Given the description of an element on the screen output the (x, y) to click on. 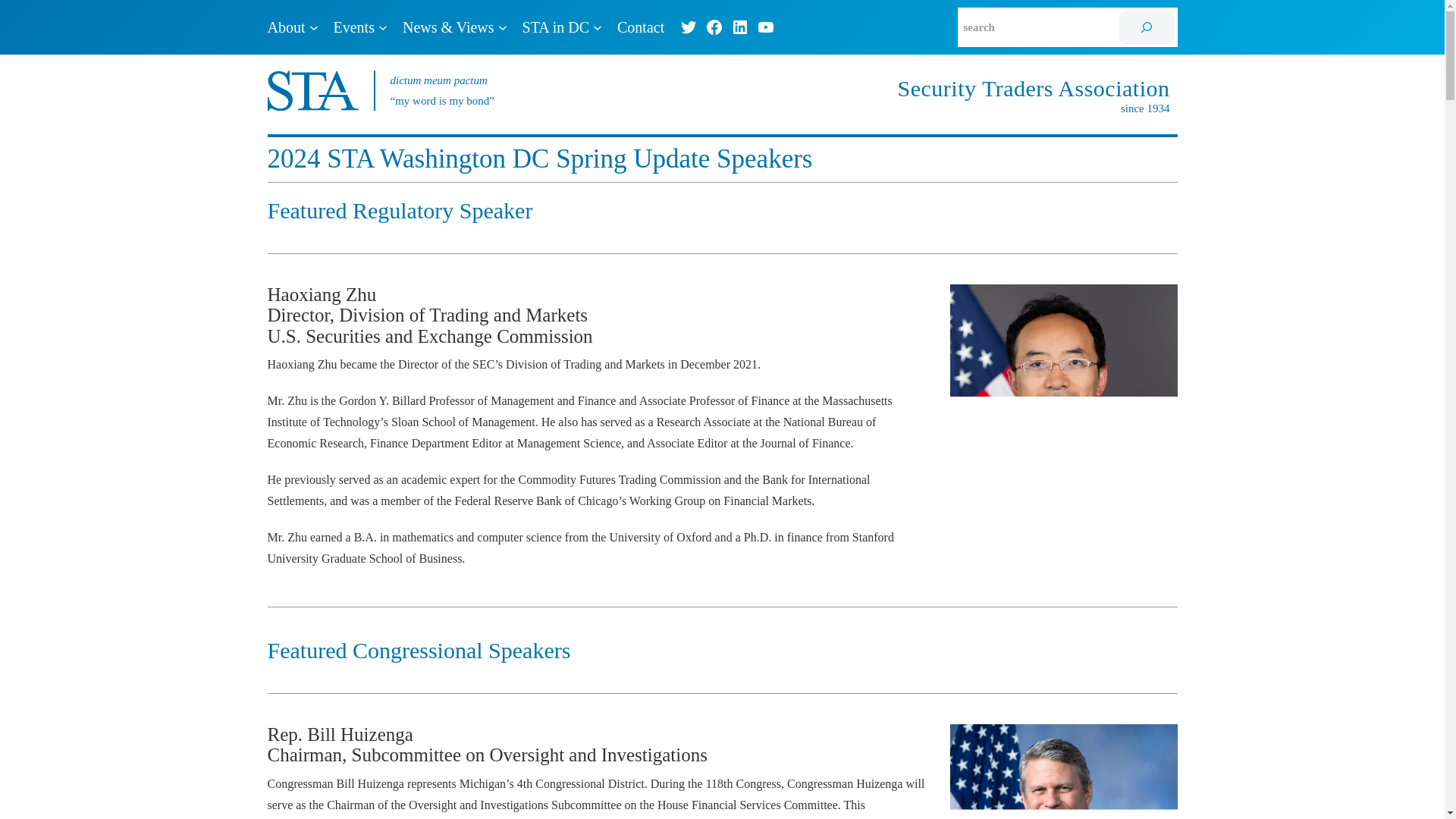
Events (353, 27)
Twitter (688, 27)
Facebook (713, 27)
About (285, 27)
Contact (640, 27)
STA in DC (555, 27)
